Given the description of an element on the screen output the (x, y) to click on. 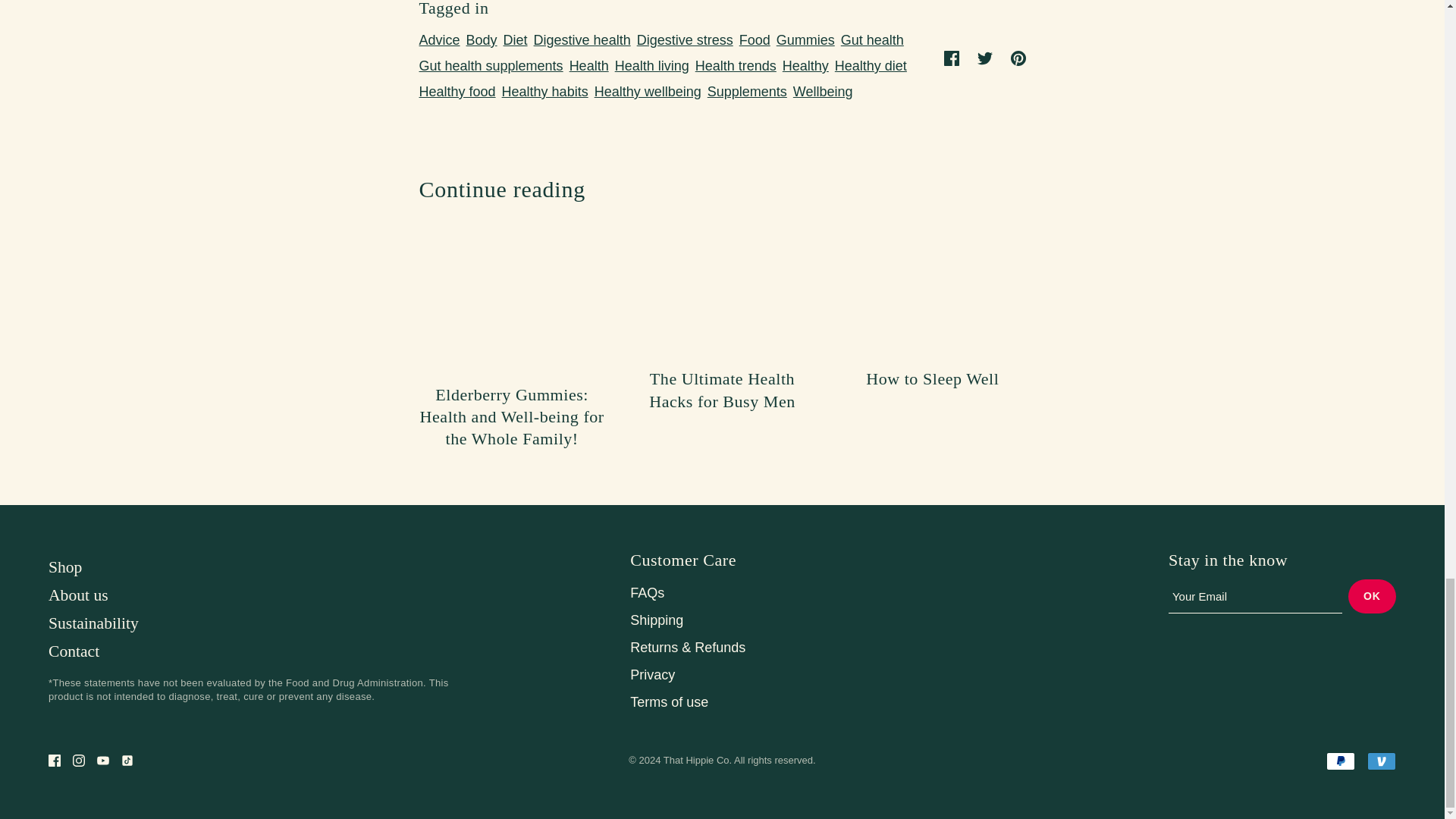
Advice (438, 39)
Sustainability (93, 623)
Healthy diet (870, 65)
About us (77, 595)
Sustainability (93, 623)
Health living (651, 65)
About us (77, 595)
PayPal (1340, 761)
Gut health supplements (490, 65)
Terms of use (668, 702)
Supplements (747, 91)
Gummies (805, 39)
Digestive health (582, 39)
The Ultimate Health Hacks for Busy Men (727, 346)
Body (481, 39)
